Given the description of an element on the screen output the (x, y) to click on. 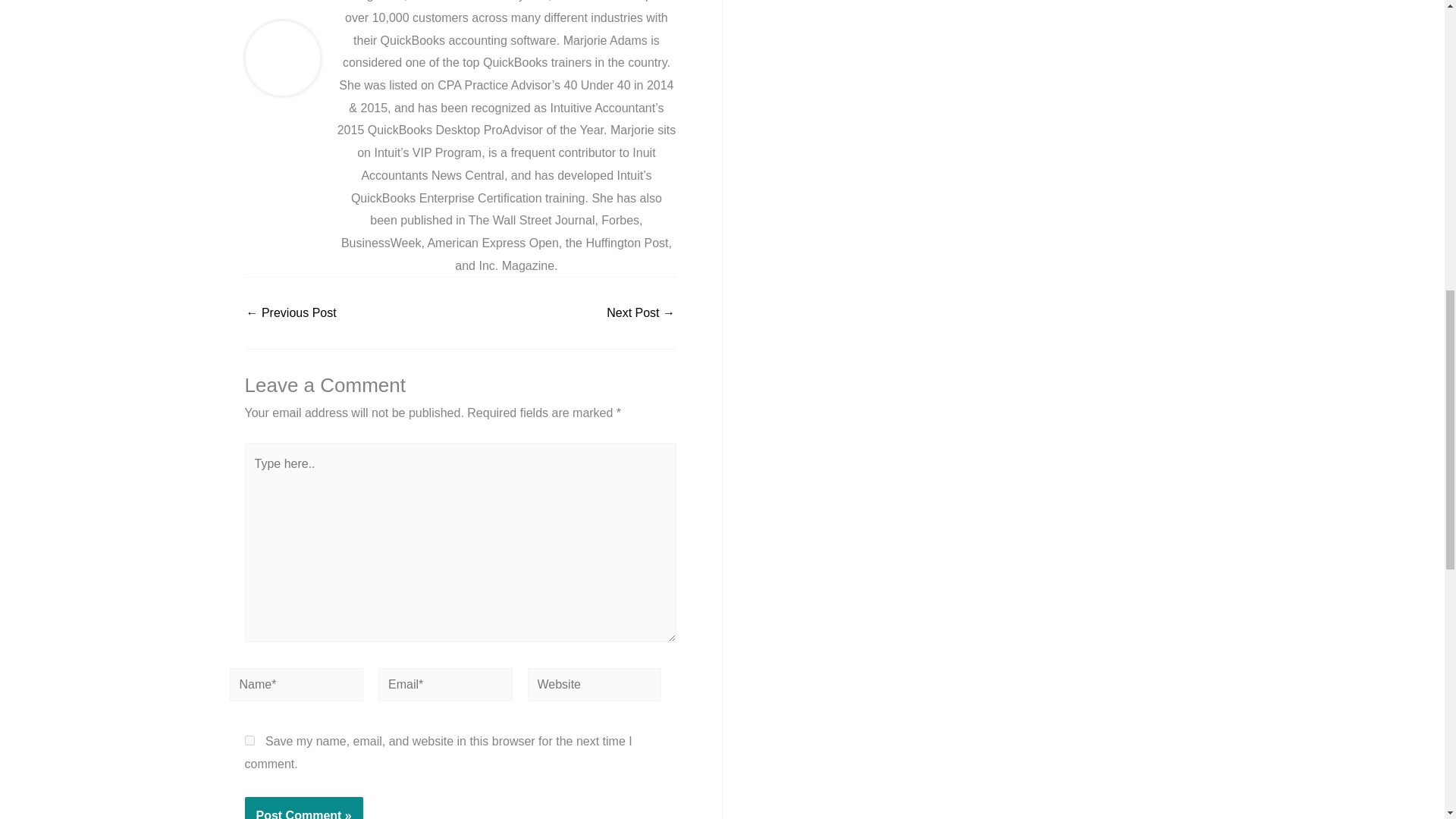
Creating a New Customer in Intuit Field Service Management (291, 313)
yes (248, 740)
The Steps to Documenting Your Processes (641, 313)
